Given the description of an element on the screen output the (x, y) to click on. 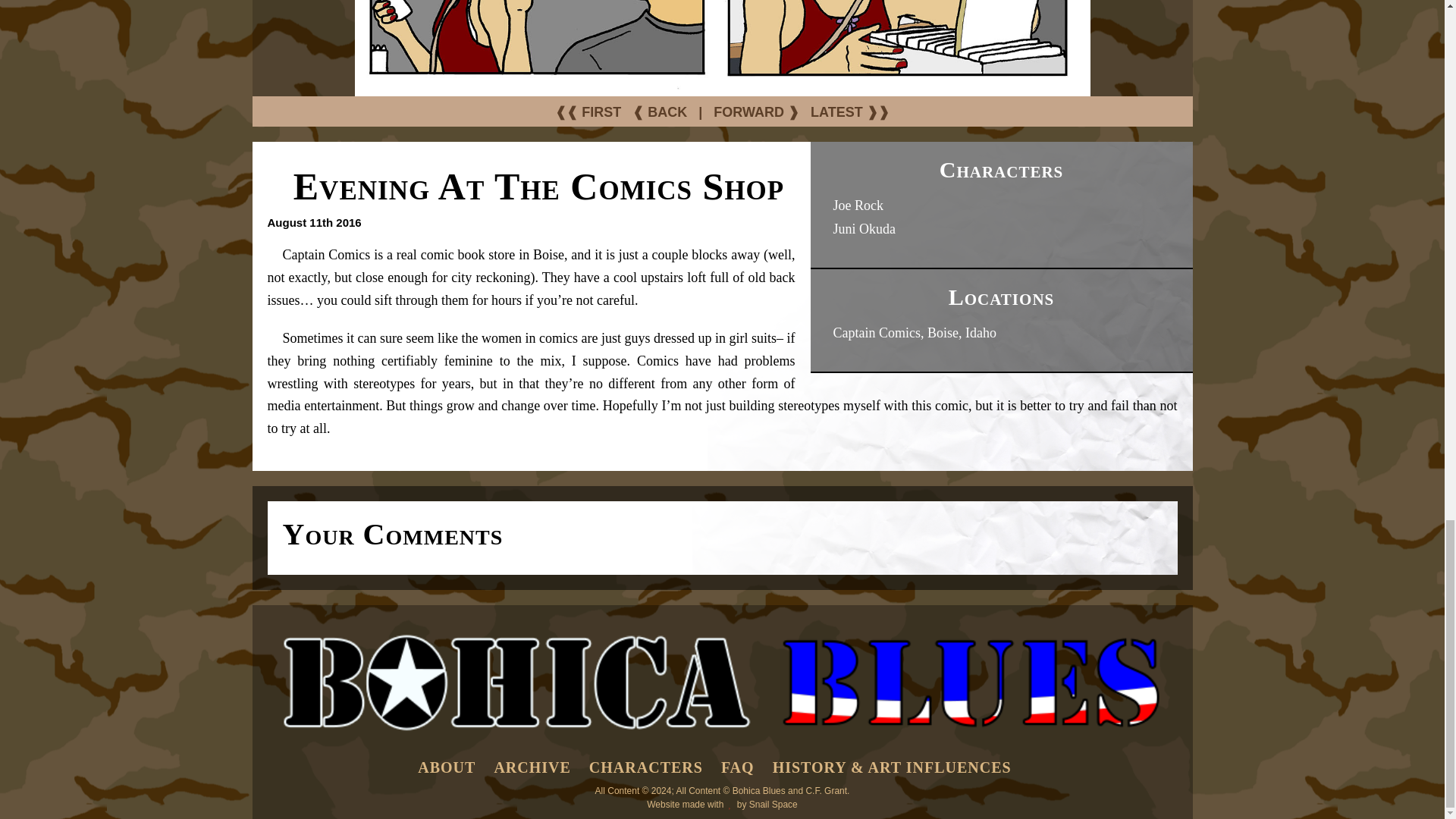
FAQ (737, 767)
CHARACTERS (646, 767)
Snail Space (773, 804)
ARCHIVE (531, 767)
ABOUT (446, 767)
